Given the description of an element on the screen output the (x, y) to click on. 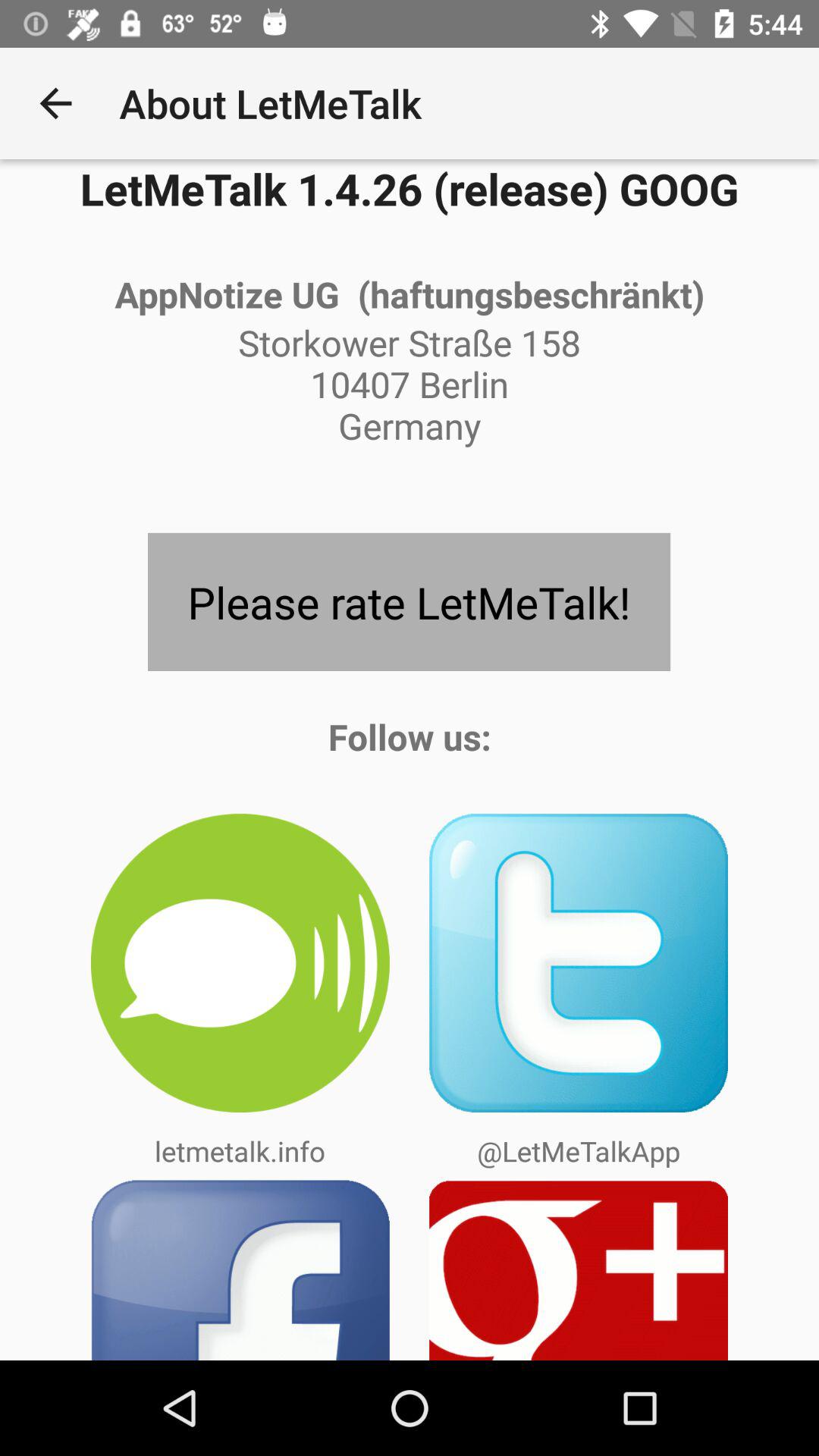
follow on letmtalk.info (240, 962)
